Given the description of an element on the screen output the (x, y) to click on. 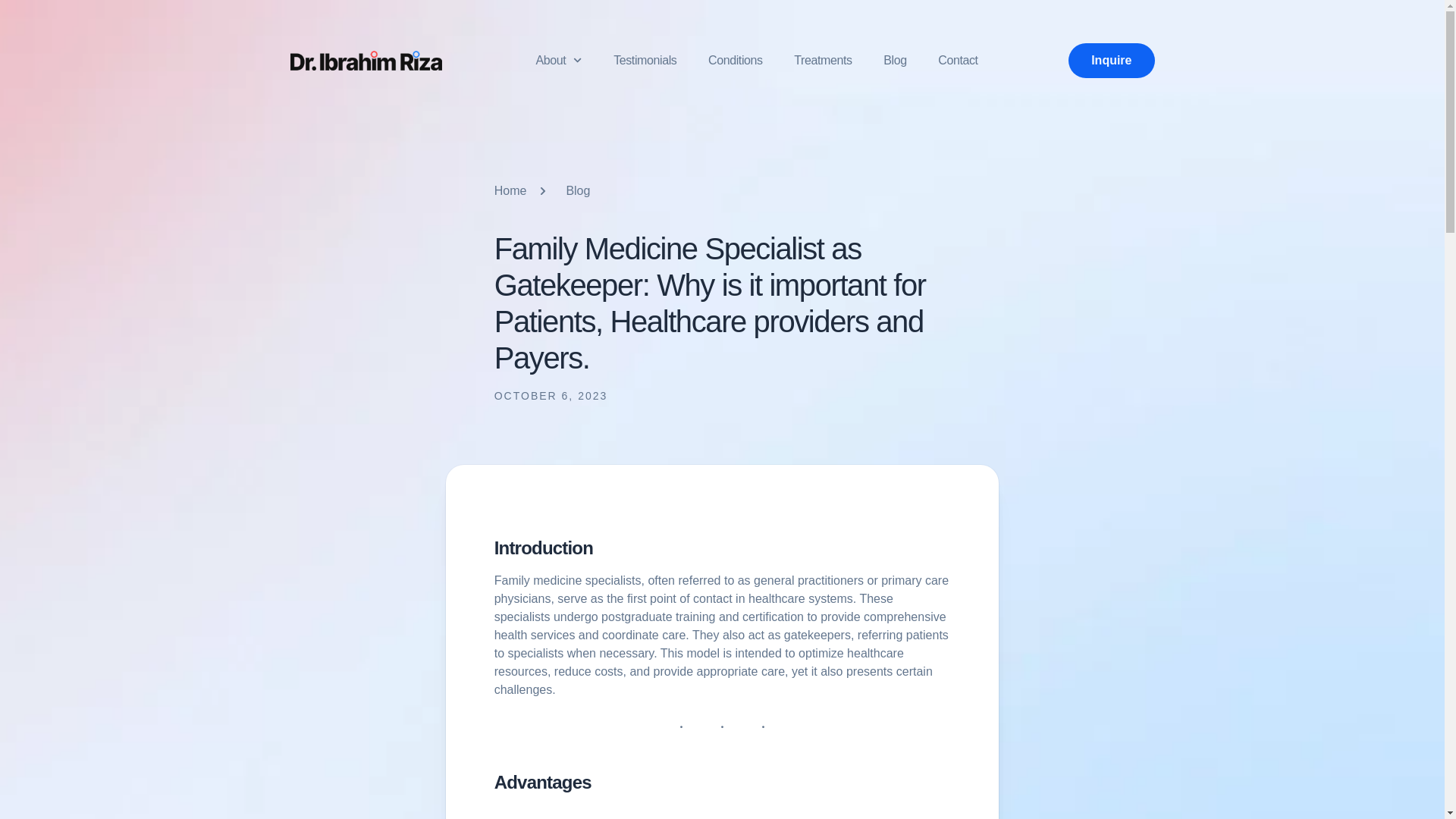
Contact (957, 60)
About (559, 60)
Blog (894, 60)
Inquire (1111, 60)
Treatments (823, 60)
Conditions (734, 60)
Testimonials (644, 60)
